Given the description of an element on the screen output the (x, y) to click on. 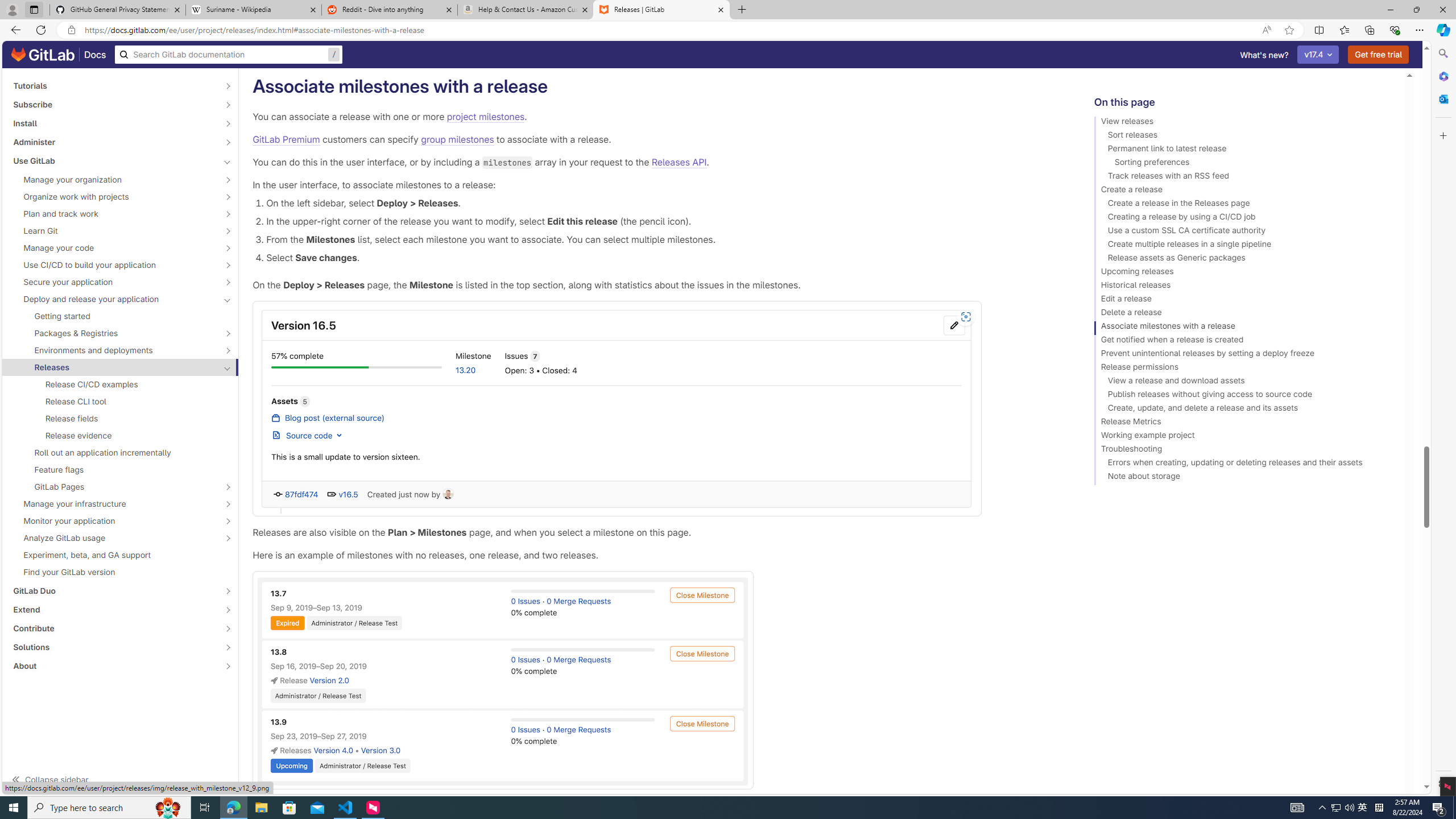
Note about storage (1244, 477)
Create a release in the Releases page (1244, 205)
Plan and track work (113, 213)
What's new? (1263, 54)
GitLab Premium (285, 138)
Use CI/CD to build your application (113, 264)
Deploy and release your application (113, 298)
Release Metrics (1244, 423)
Create a release (1244, 191)
Prevent unintentional releases by setting a deploy freeze (1244, 354)
On the left sidebar, select Deploy > Releases. (662, 202)
Use a custom SSL CA certificate authority (1244, 232)
Manage your organization (113, 179)
